Given the description of an element on the screen output the (x, y) to click on. 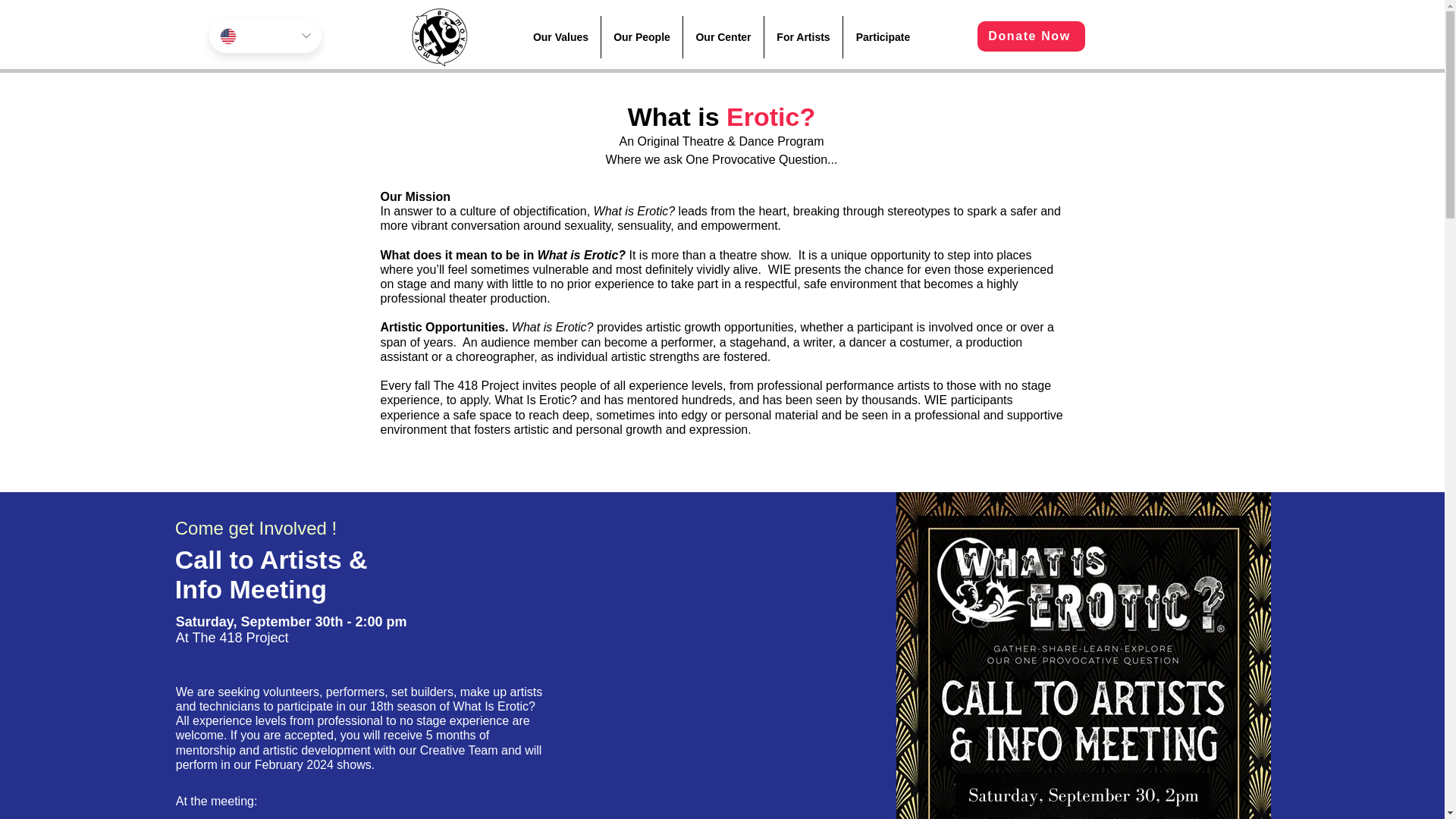
Donate Now (1030, 36)
Our Values (560, 36)
Our People (641, 36)
